Given the description of an element on the screen output the (x, y) to click on. 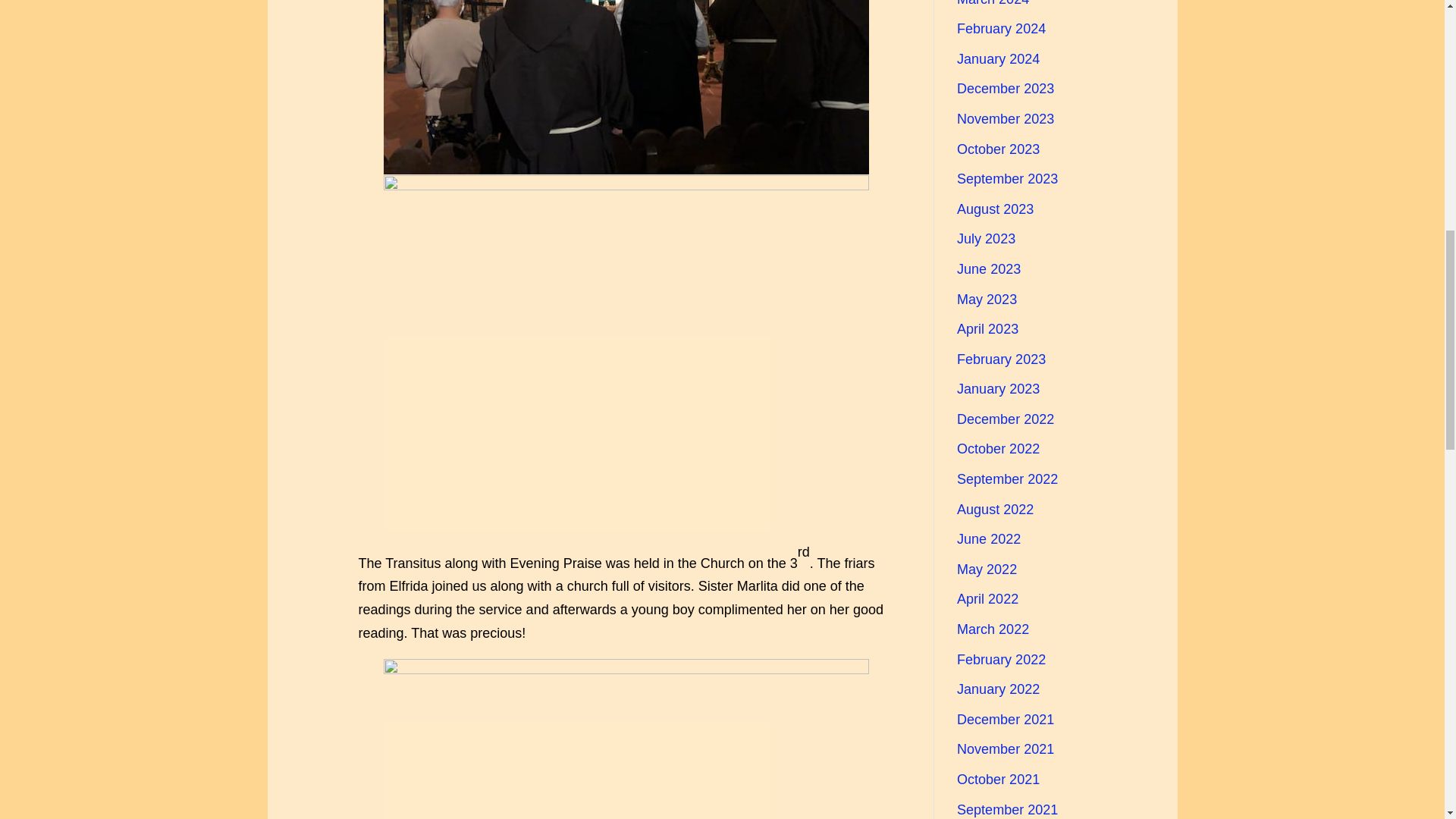
March 2024 (992, 3)
December 2023 (1005, 88)
May 2023 (986, 298)
August 2023 (994, 209)
September 2022 (1007, 478)
November 2023 (1005, 118)
May 2022 (986, 569)
February 2024 (1000, 28)
September 2023 (1007, 178)
April 2023 (986, 328)
